Given the description of an element on the screen output the (x, y) to click on. 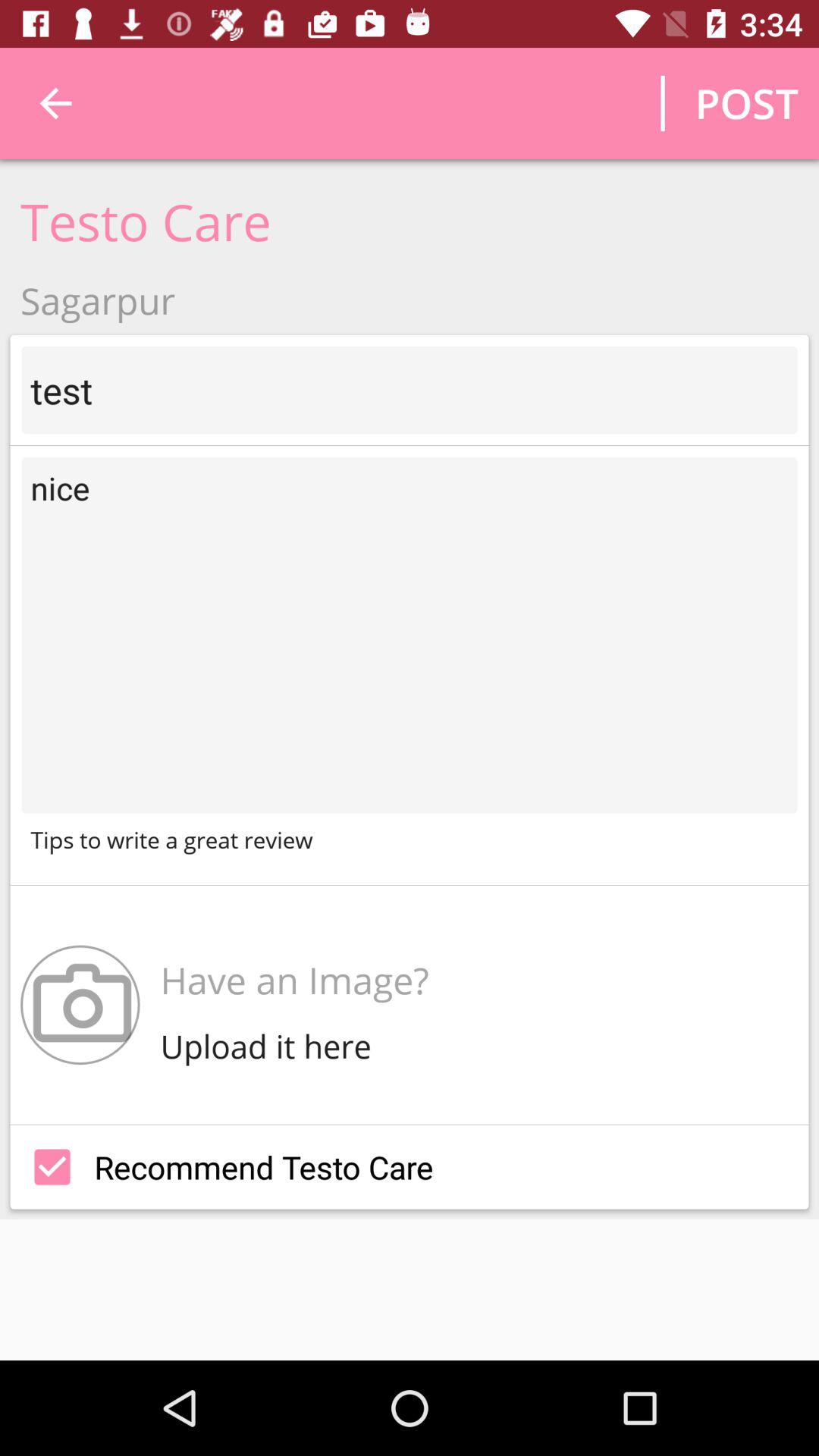
choose the icon next to have an image? item (79, 1004)
